Given the description of an element on the screen output the (x, y) to click on. 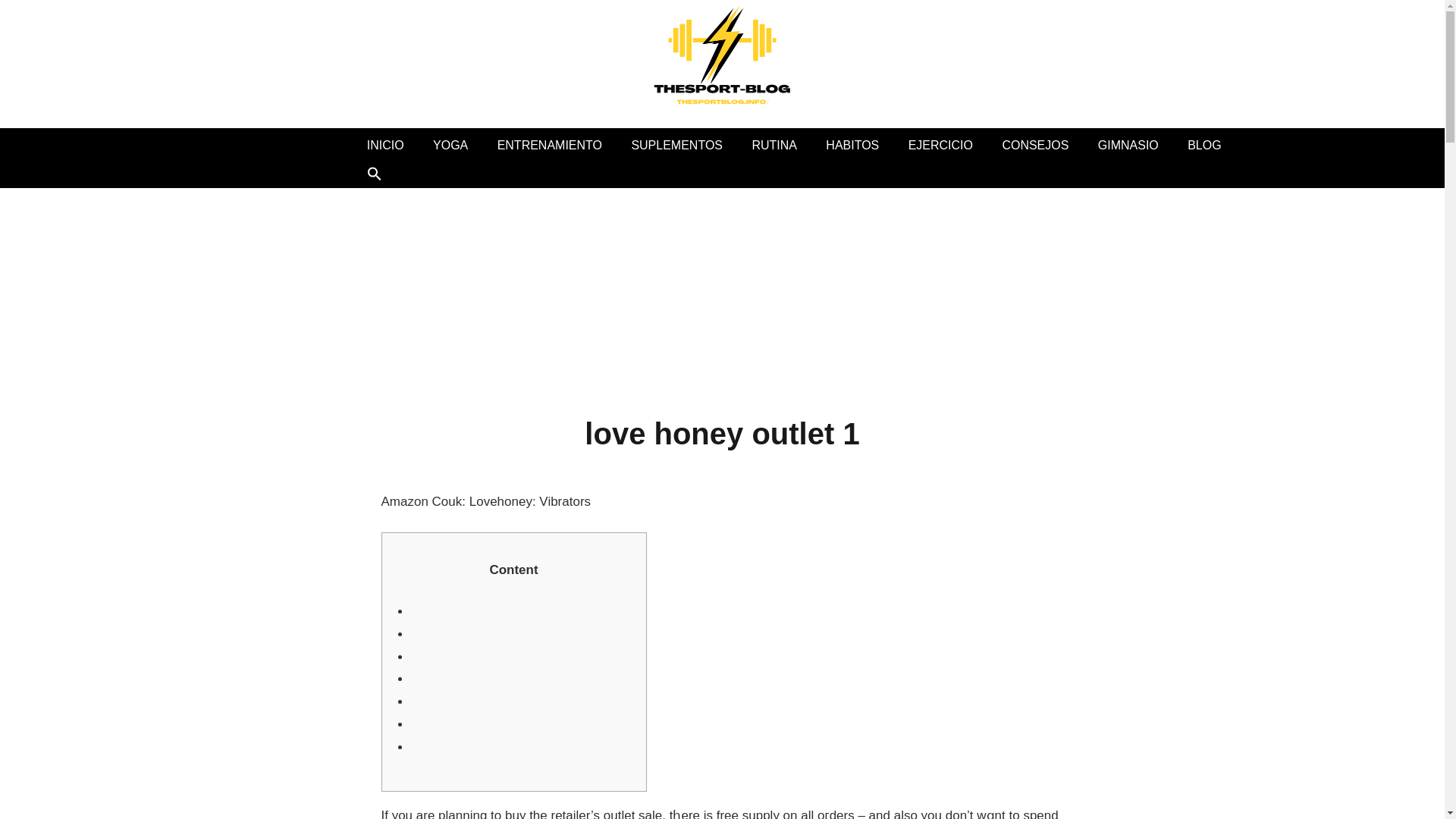
HABITOS (851, 143)
ENTRENAMIENTO (548, 143)
CONSEJOS (1035, 143)
BLOG (1204, 143)
GIMNASIO (1128, 143)
YOGA (451, 143)
EJERCICIO (940, 143)
INICIO (385, 143)
SUPLEMENTOS (675, 143)
